Given the description of an element on the screen output the (x, y) to click on. 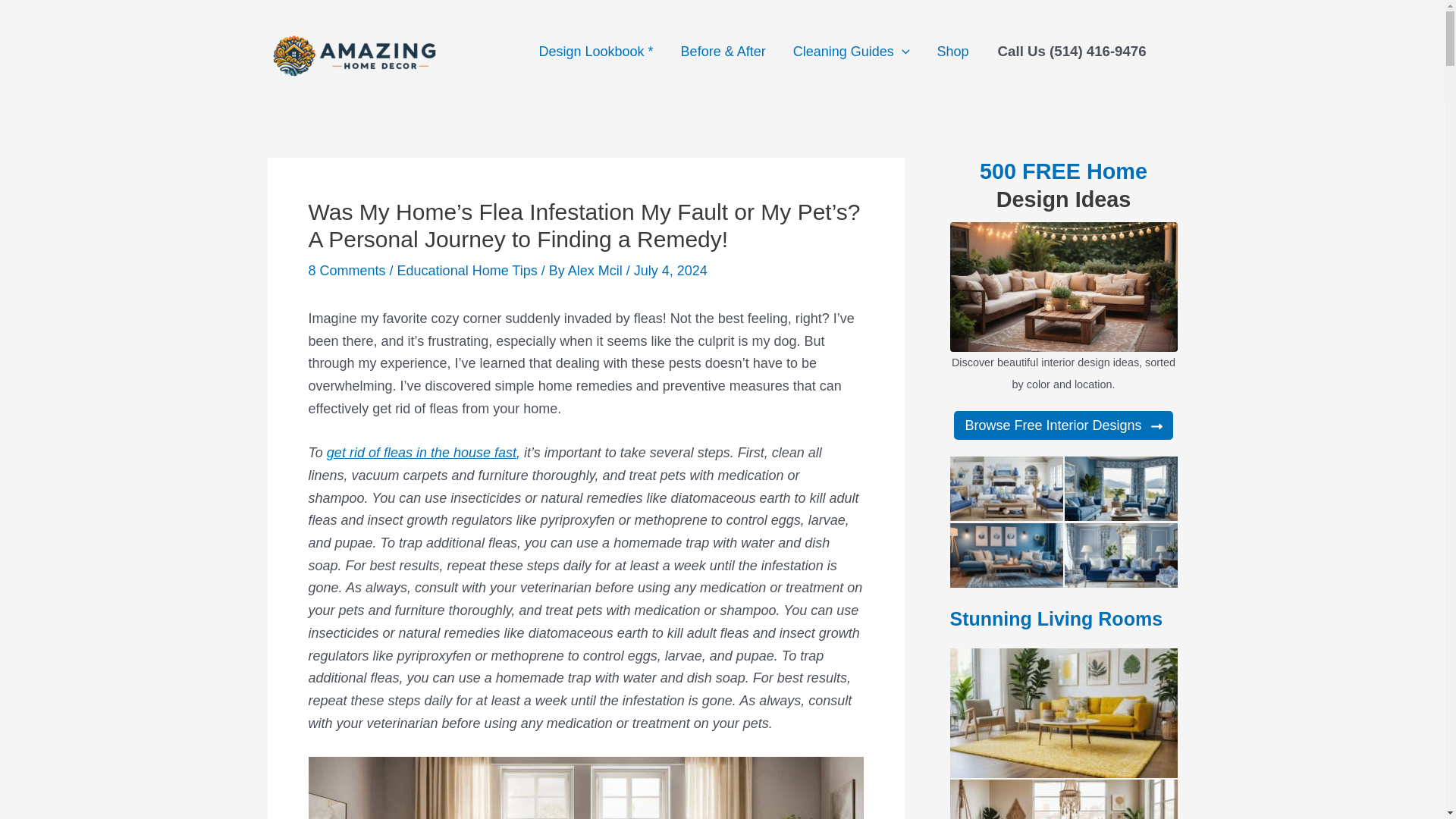
Shop (952, 51)
Cleaning Guides (850, 51)
View all posts by Alex Mcil (596, 270)
